Given the description of an element on the screen output the (x, y) to click on. 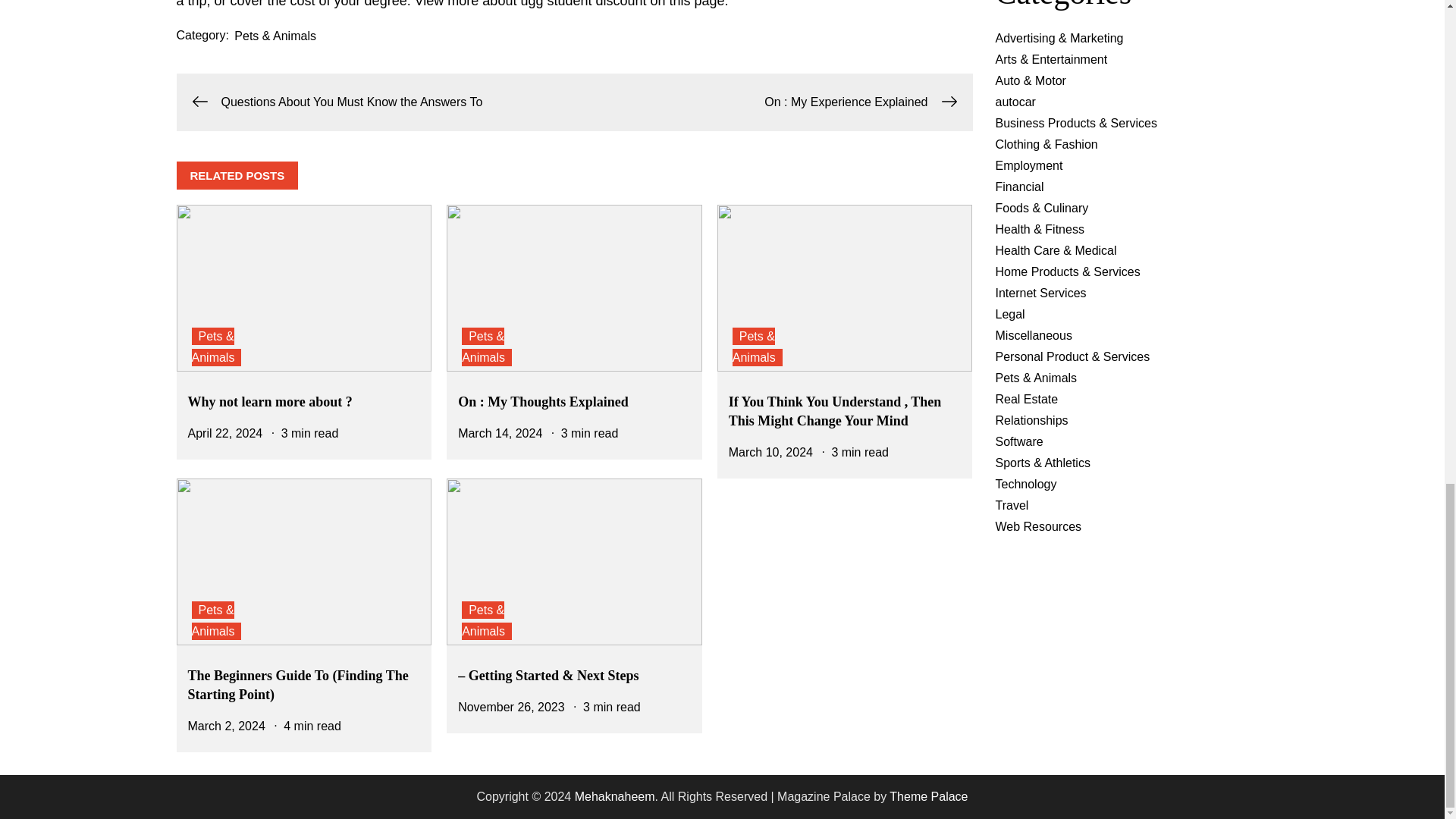
On : My Thoughts Explained (543, 401)
April 22, 2024 (225, 432)
March 10, 2024 (770, 451)
November 26, 2023 (511, 707)
March 14, 2024 (499, 432)
Why not learn more about ? (269, 401)
March 2, 2024 (225, 725)
